Given the description of an element on the screen output the (x, y) to click on. 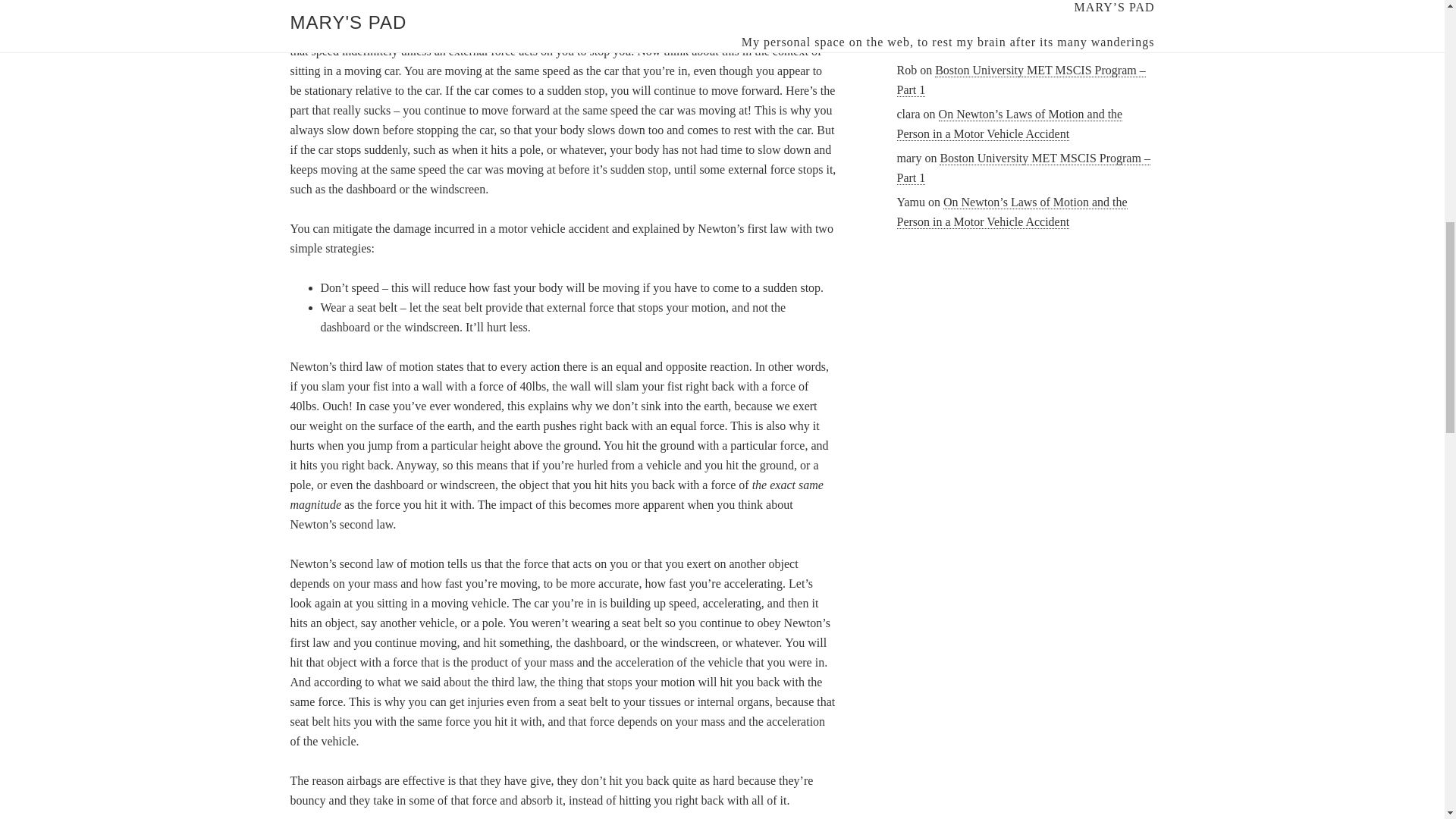
Mary (909, 26)
